Given the description of an element on the screen output the (x, y) to click on. 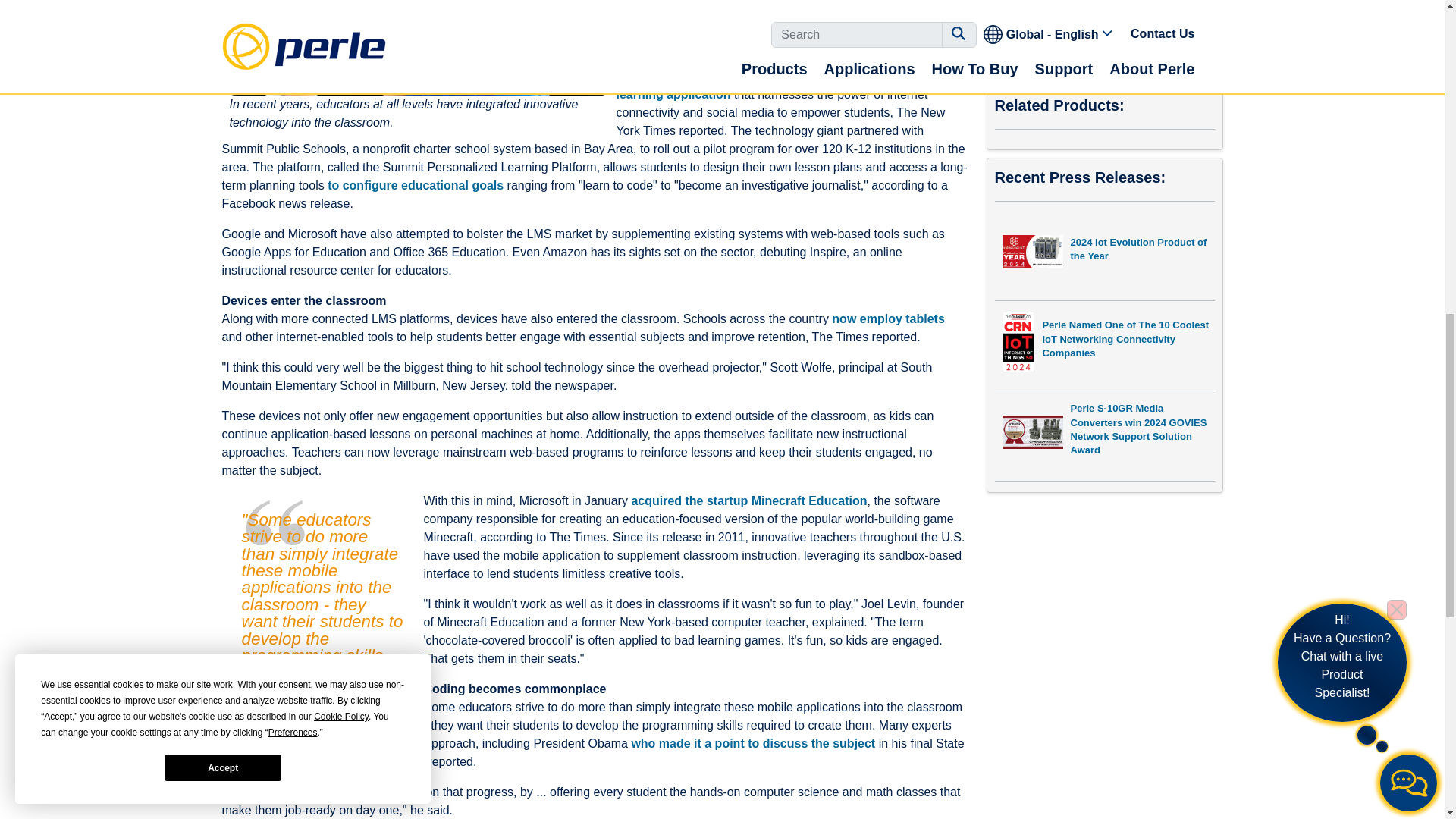
who made it a point to discuss the subject (752, 743)
acquired the startup Minecraft Education (748, 500)
now employ tablets (887, 318)
announced the launch of a proprietary learning application (782, 84)
to configure educational goals (415, 185)
